Given the description of an element on the screen output the (x, y) to click on. 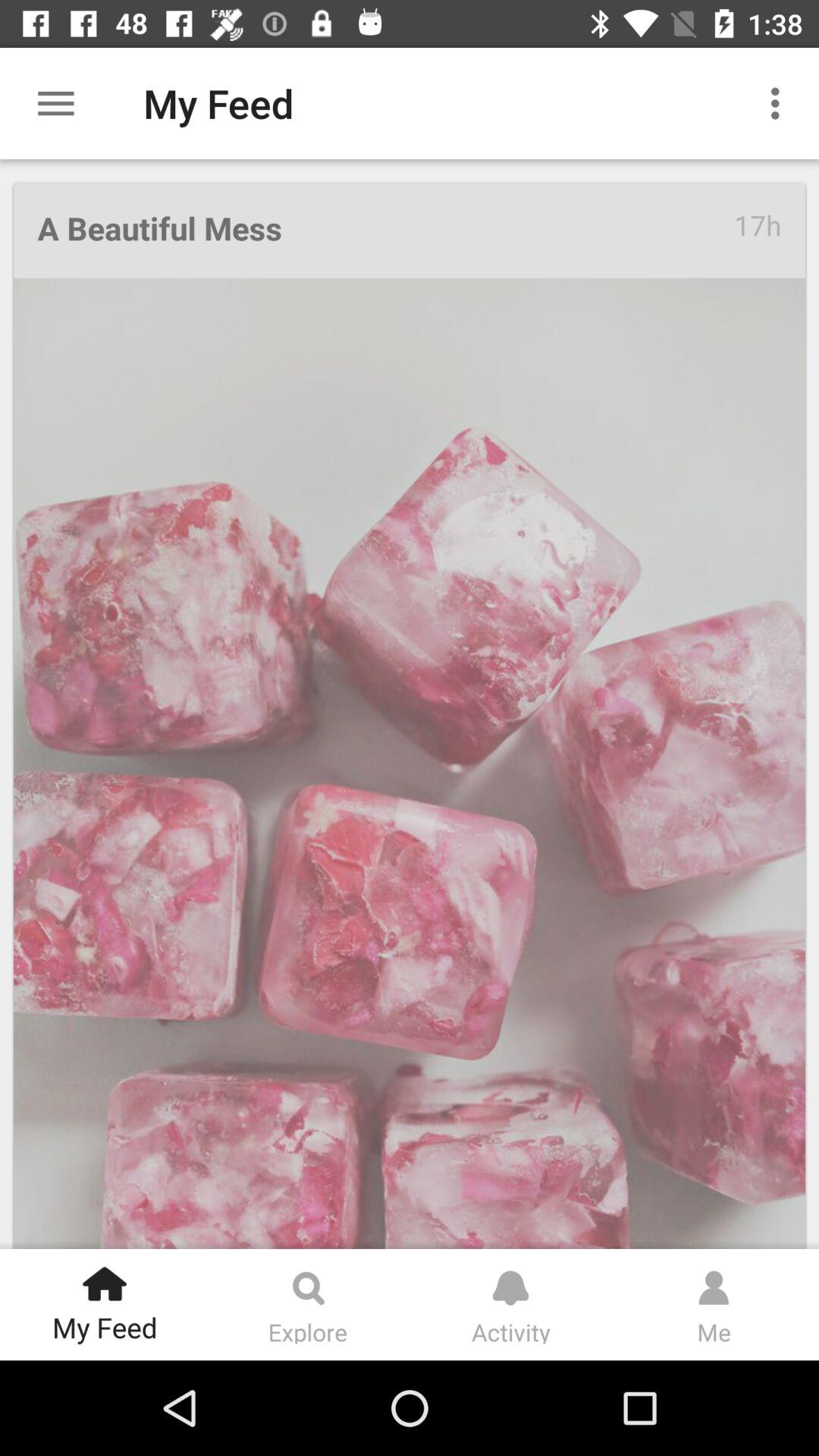
select the explore icon (307, 1281)
click the icon above the my feed (104, 1278)
click the notifications bell (510, 1281)
go to the icon which is above me (713, 1281)
